Given the description of an element on the screen output the (x, y) to click on. 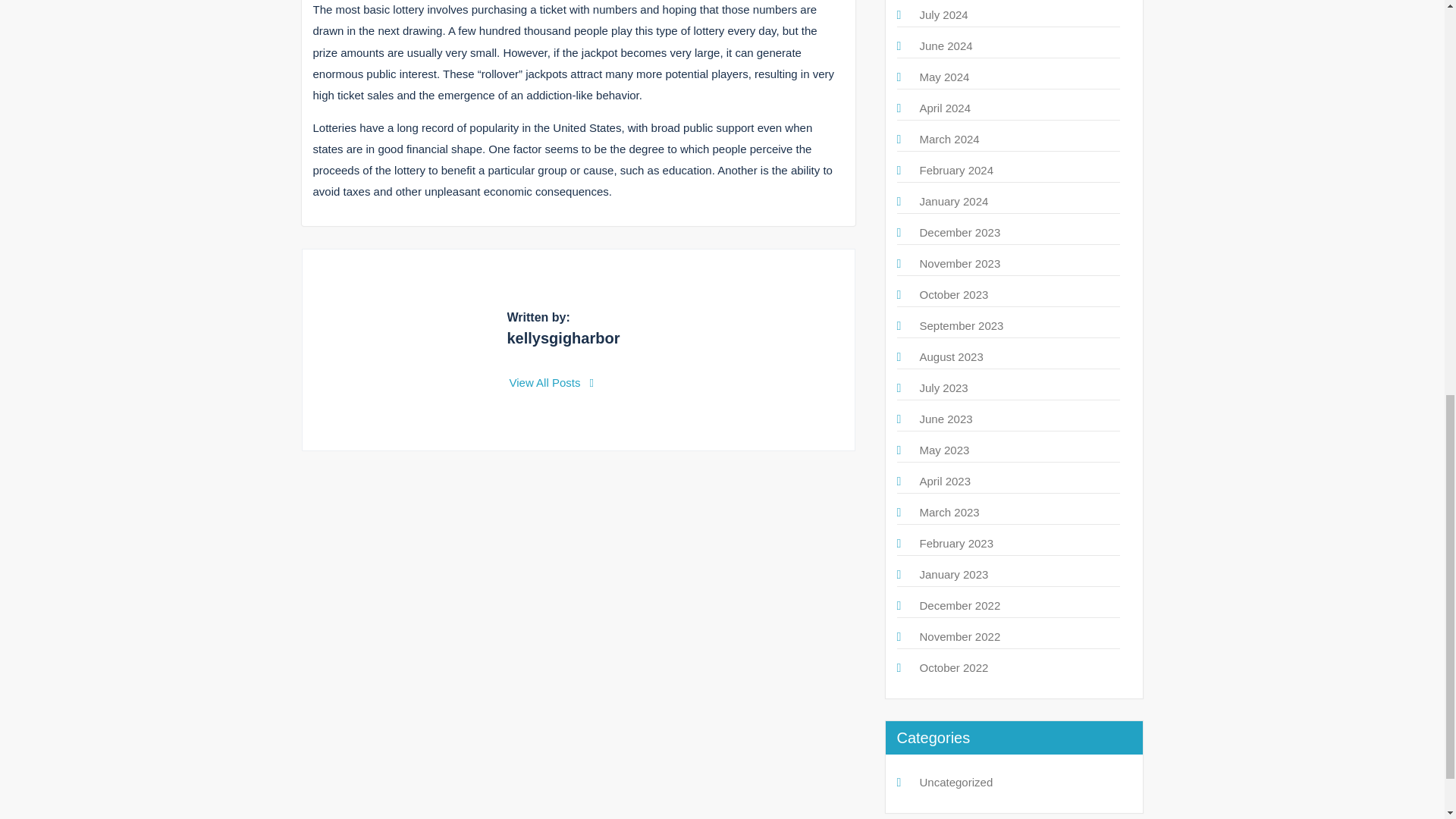
October 2022 (953, 667)
December 2023 (959, 232)
February 2024 (955, 169)
July 2024 (943, 14)
March 2024 (948, 138)
May 2024 (943, 76)
July 2023 (943, 387)
View All Posts (551, 382)
August 2023 (950, 356)
November 2023 (959, 263)
